Given the description of an element on the screen output the (x, y) to click on. 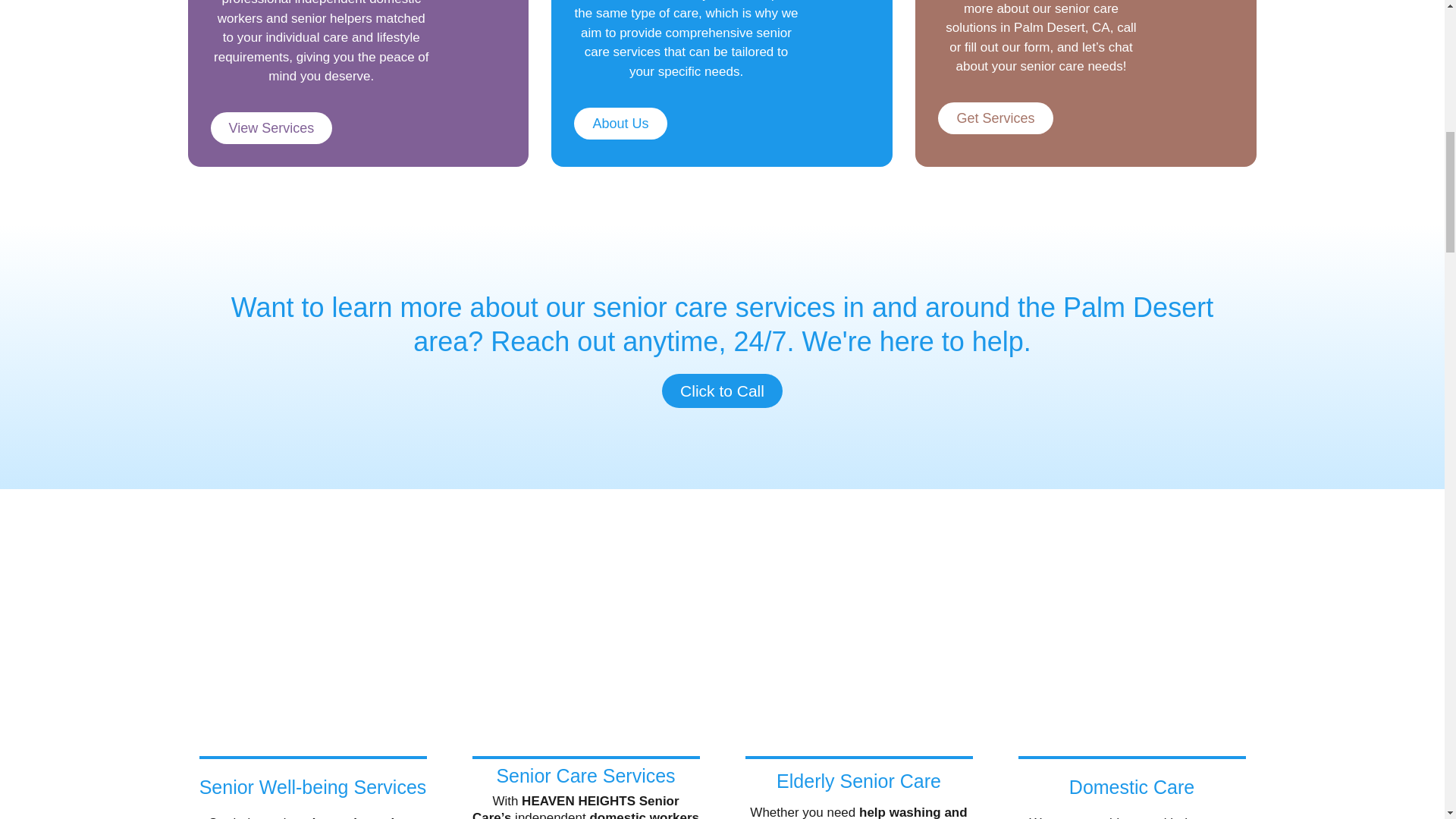
Senior Well-being Services (312, 786)
Click to Call (722, 390)
About Us (619, 123)
View Services (272, 128)
Get Services (994, 118)
Elderly Senior Care (858, 780)
Senior Care Services (585, 775)
